Given the description of an element on the screen output the (x, y) to click on. 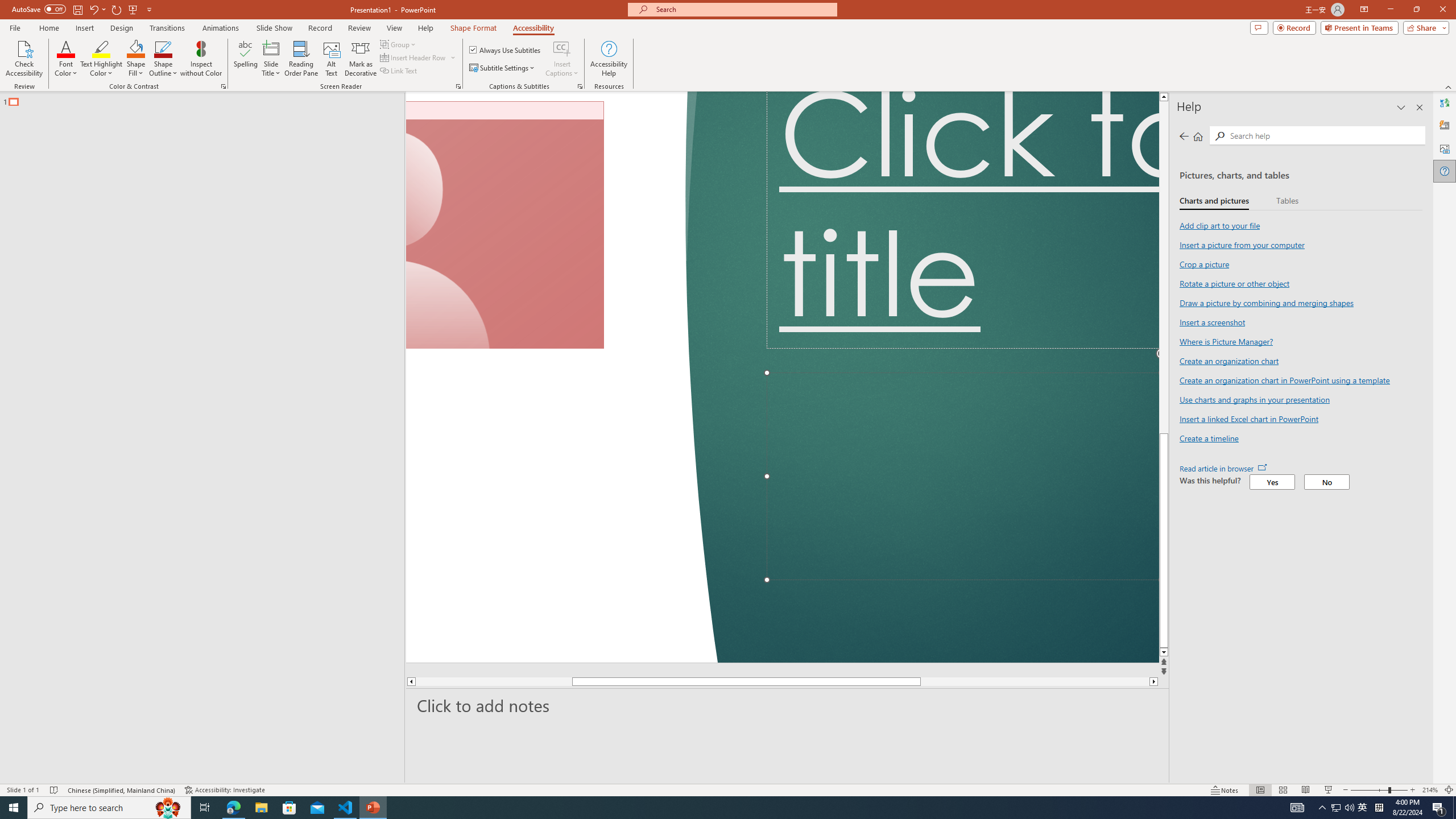
Decorative Locked (561, 376)
Subtitle TextBox (962, 476)
Use charts and graphs in your presentation (1254, 398)
Inspect without Color (201, 58)
Outline (207, 99)
Create a timeline (1209, 437)
